Given the description of an element on the screen output the (x, y) to click on. 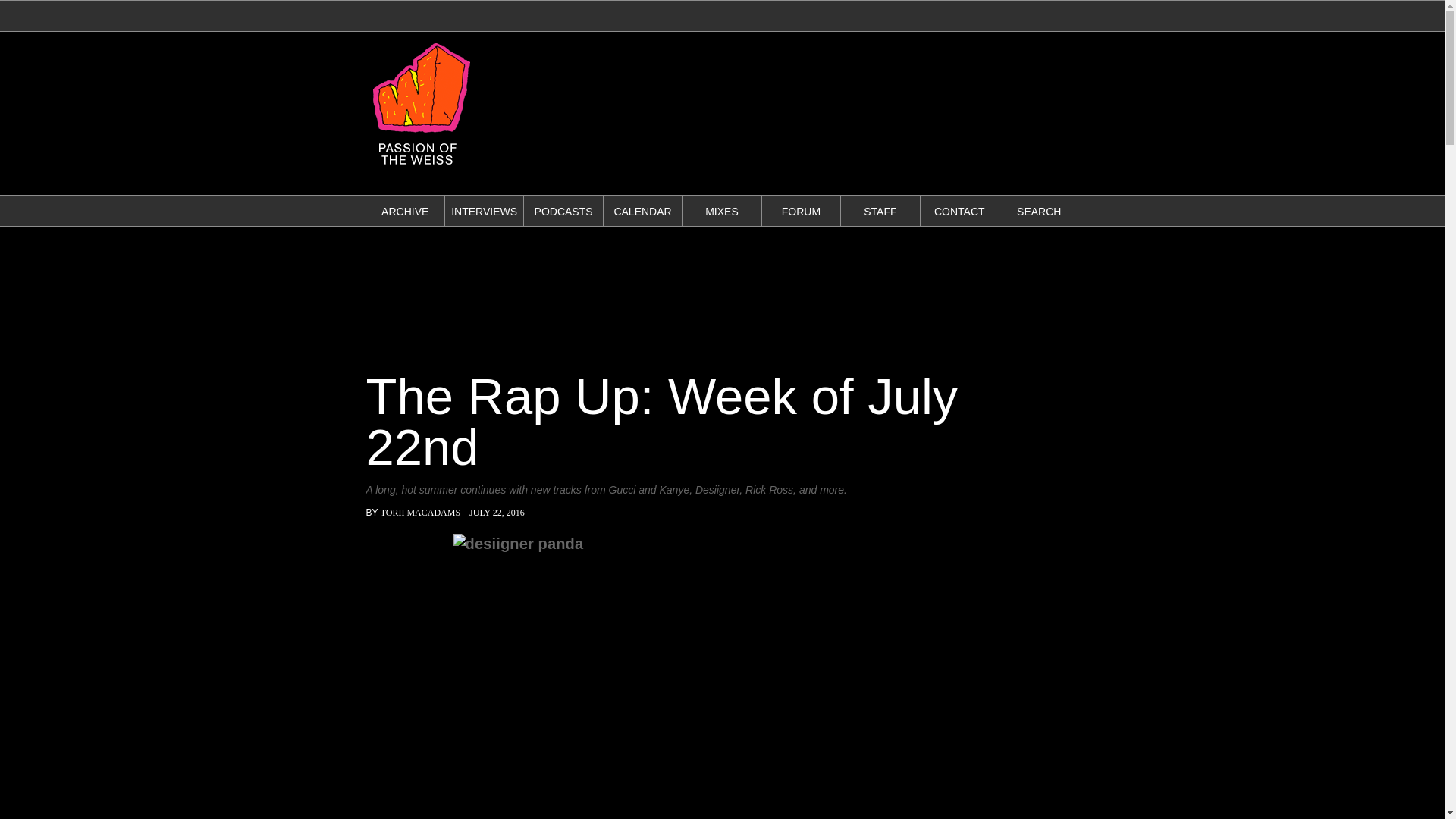
SEARCH (1038, 211)
INTERVIEWS (483, 211)
MIXES (721, 211)
TORII MACADAMS (420, 511)
Permalink to The Rap Up: Week of July 22nd (661, 421)
The Rap Up: Week of July 22nd (661, 421)
FORUM (801, 211)
Passion of the Weiss (420, 168)
CALENDAR (641, 211)
ARCHIVE (404, 211)
CONTACT (959, 211)
PODCASTS (563, 211)
Posts by Torii MacAdams (420, 511)
STAFF (879, 211)
